Given the description of an element on the screen output the (x, y) to click on. 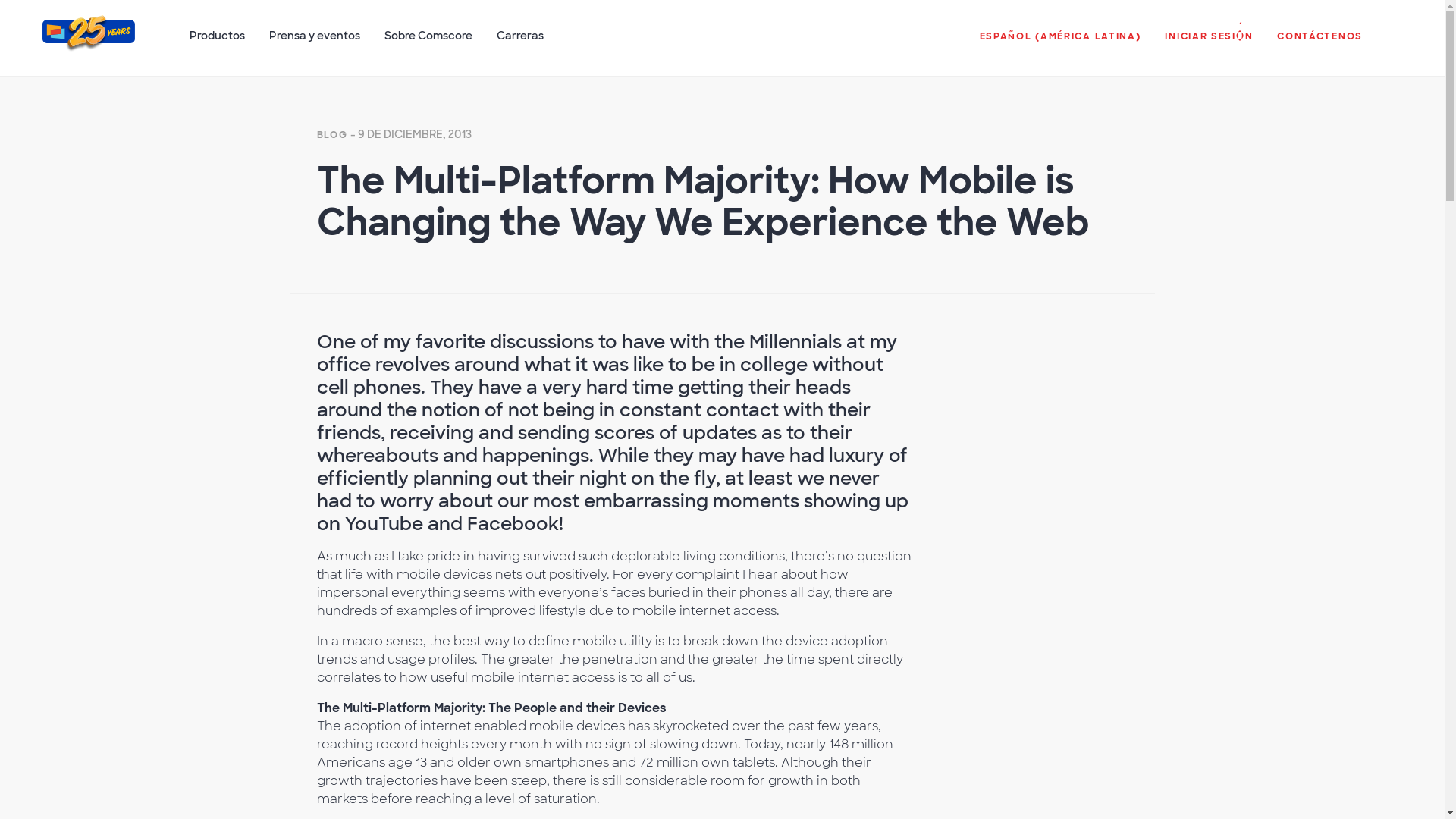
Inicio (88, 44)
Productos (217, 43)
Carreras (520, 43)
Prensa y eventos (314, 43)
Prensa y eventos (314, 43)
Productos (217, 43)
Sobre Comscore (428, 43)
